Given the description of an element on the screen output the (x, y) to click on. 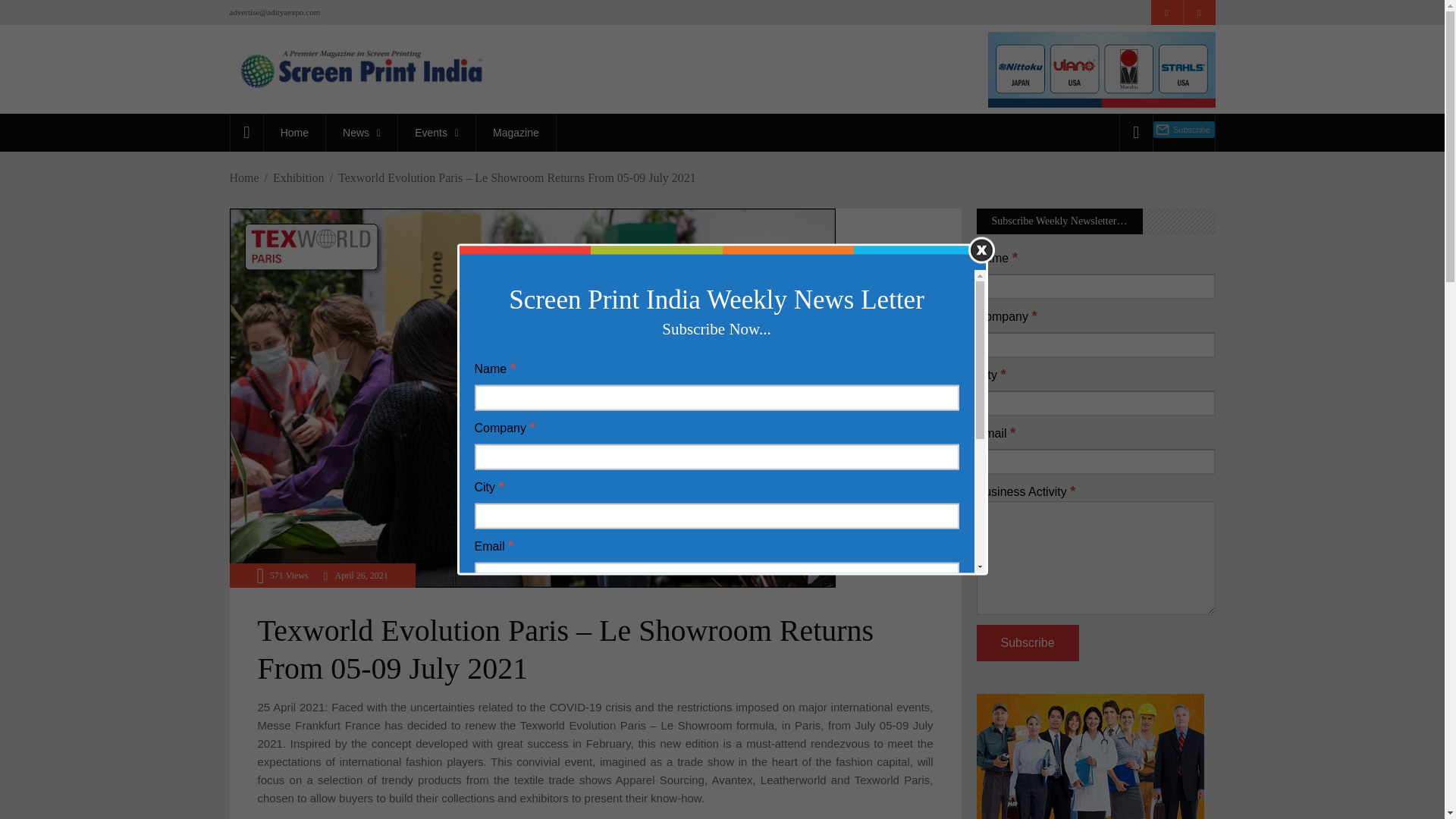
Events (436, 132)
Home (293, 132)
Close (981, 249)
News (360, 132)
Subscribe (525, 758)
Subscribe (1027, 642)
Magazine (516, 132)
